Given the description of an element on the screen output the (x, y) to click on. 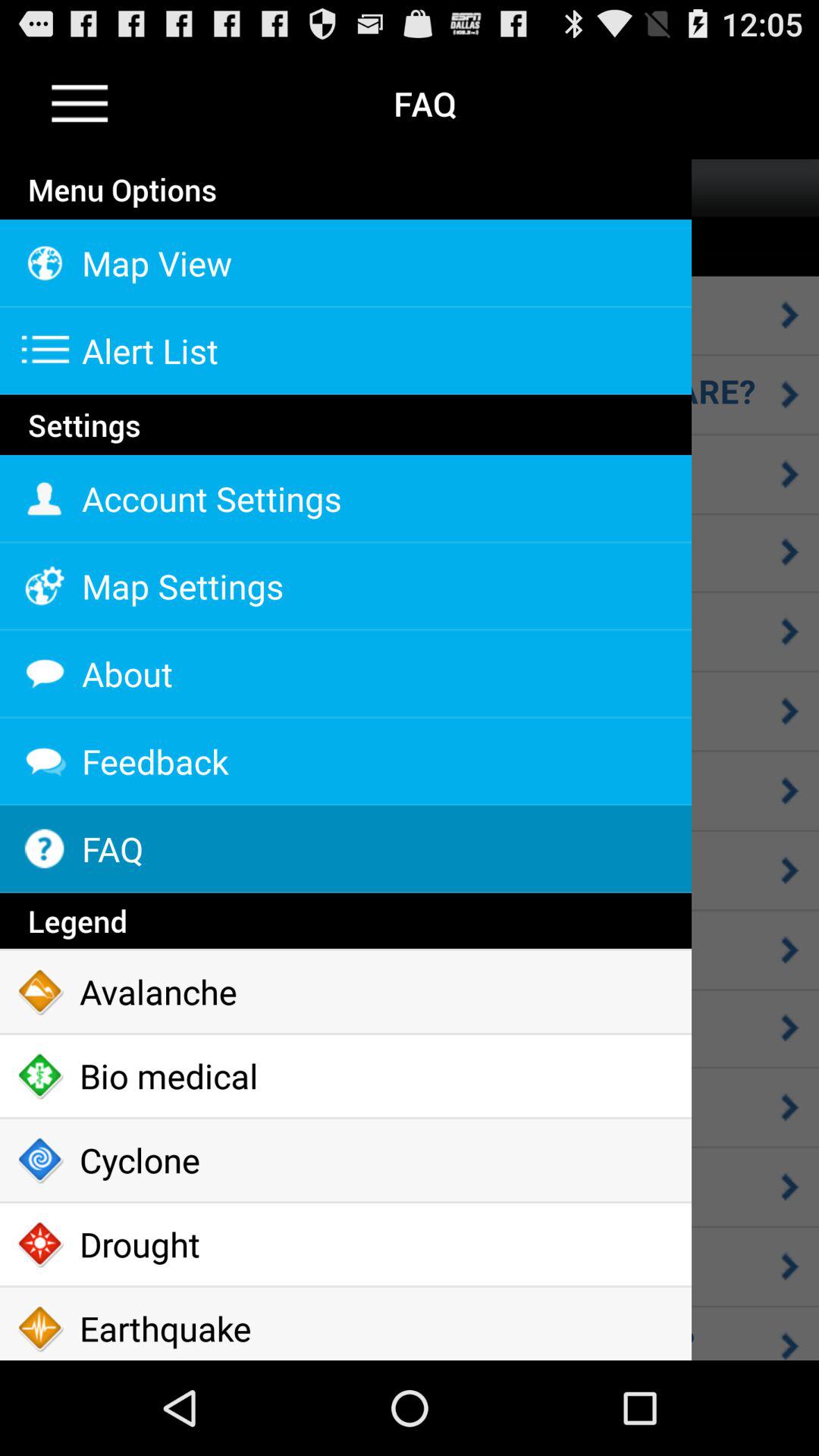
scroll until the drought item (345, 1244)
